Given the description of an element on the screen output the (x, y) to click on. 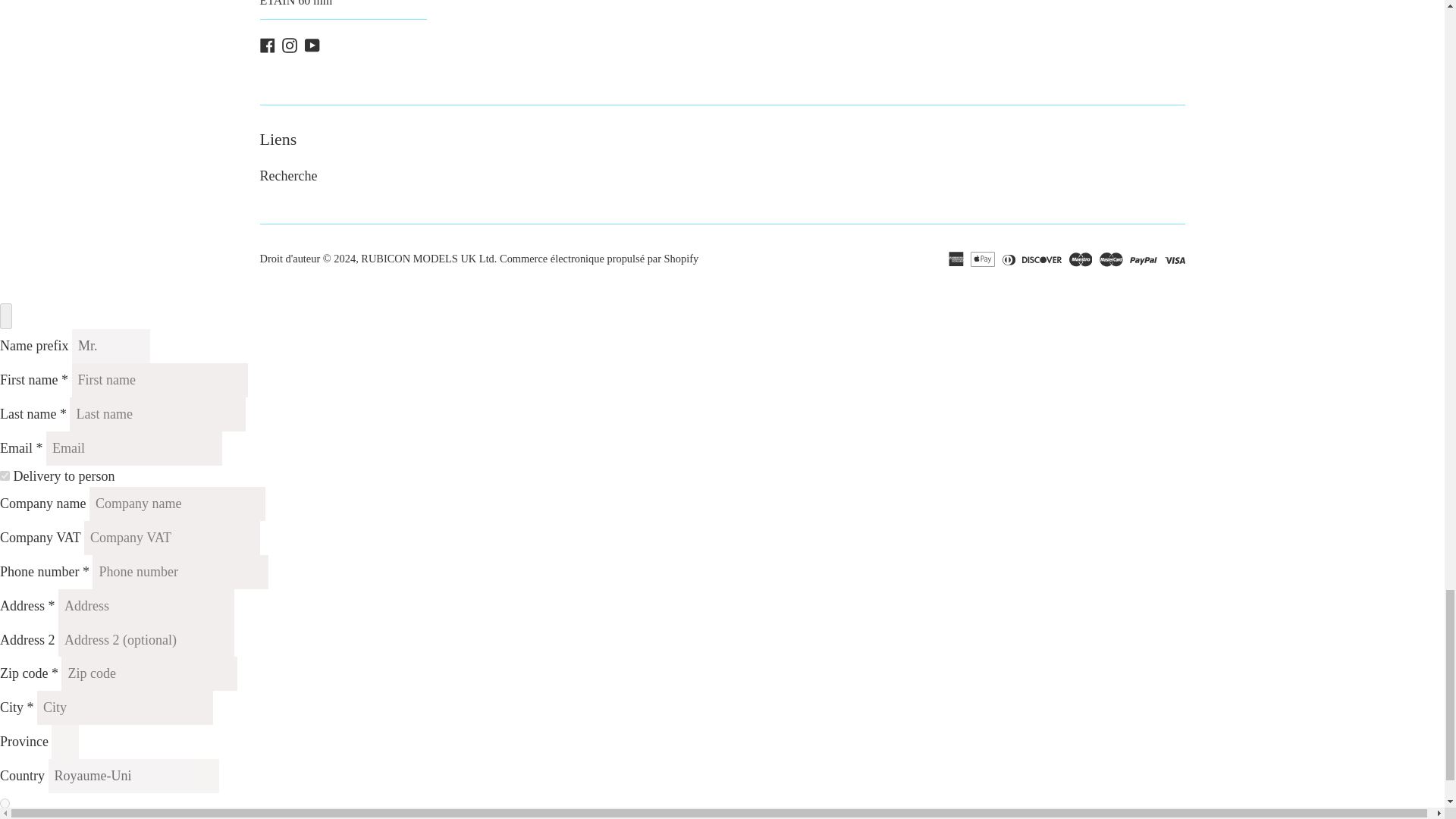
RUBICON MODELS UK Ltd sur Facebook (267, 43)
RUBICON MODELS UK Ltd sur Instagram (289, 43)
RUBICON MODELS UK Ltd sur YouTube (312, 43)
